Given the description of an element on the screen output the (x, y) to click on. 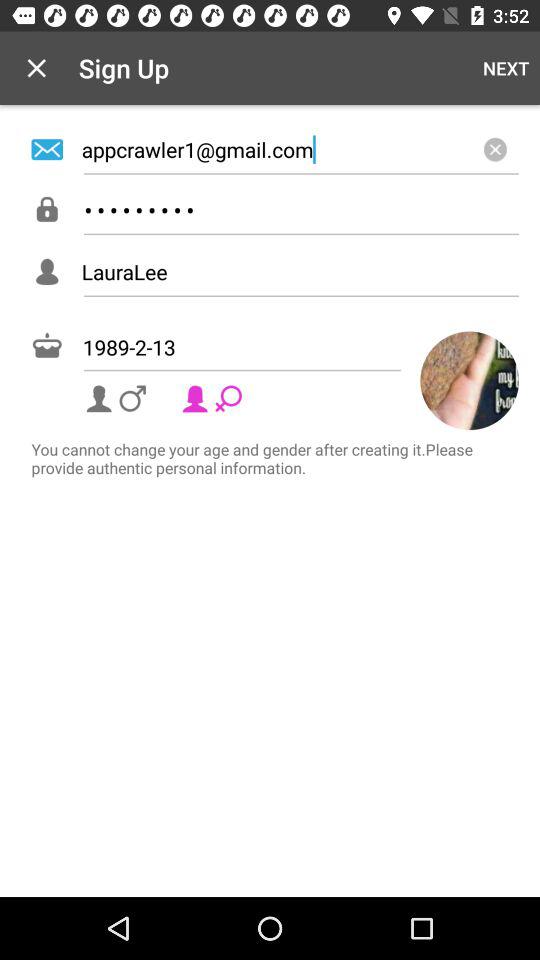
turn off crowd3116 icon (300, 209)
